Given the description of an element on the screen output the (x, y) to click on. 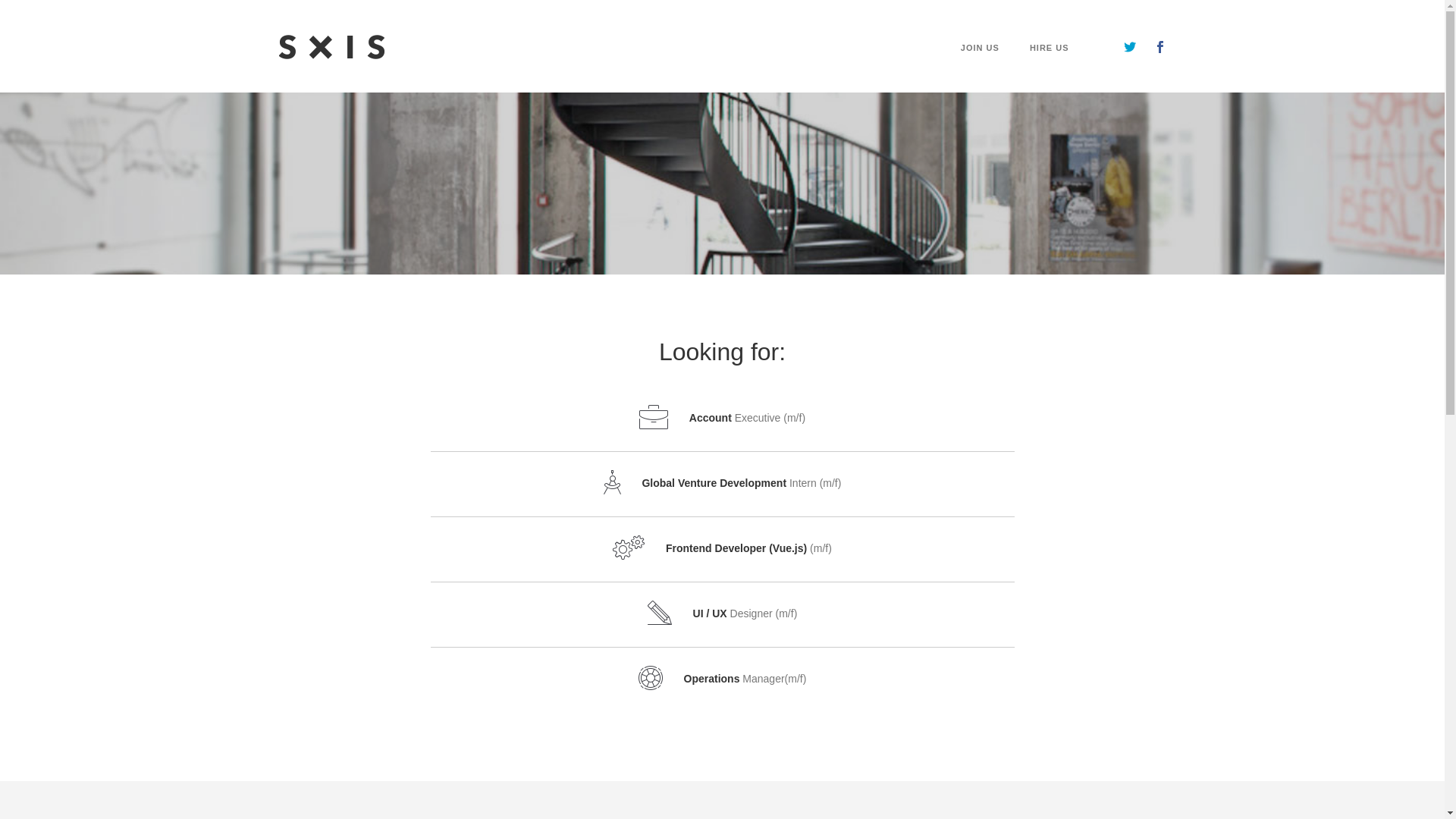
JOIN US Element type: text (979, 68)
HIRE US Element type: text (1049, 68)
